Given the description of an element on the screen output the (x, y) to click on. 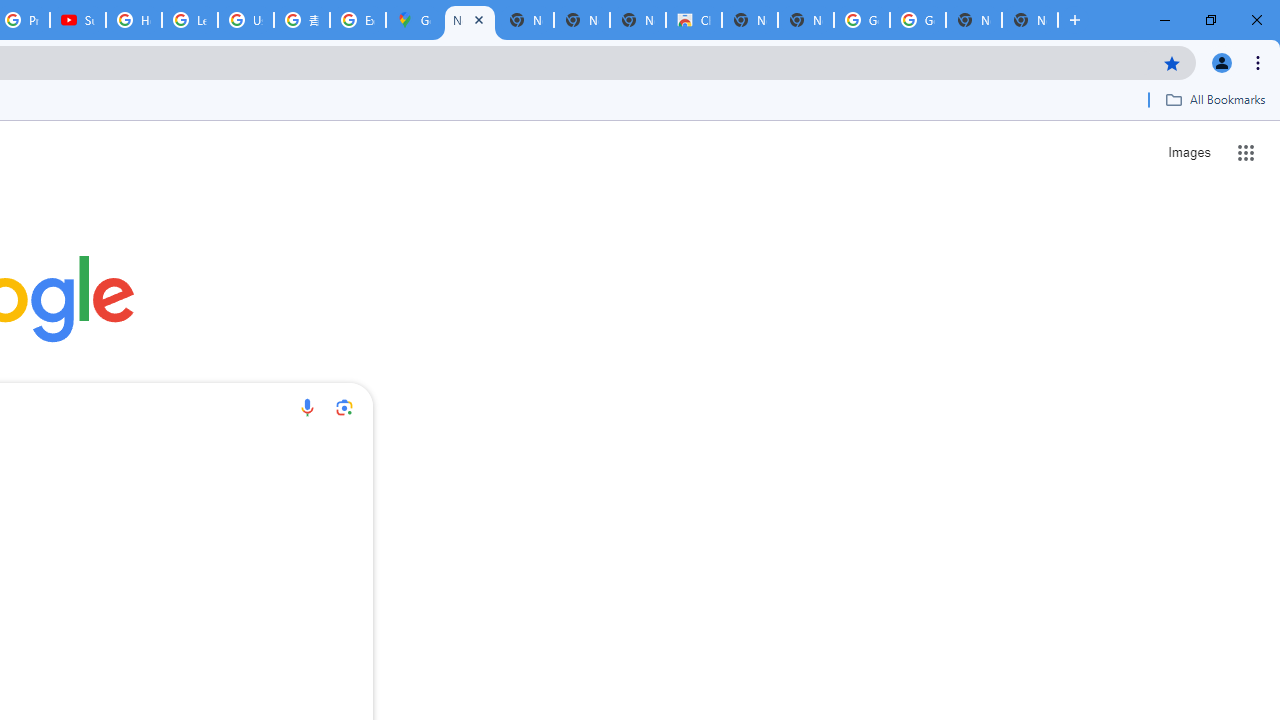
All Bookmarks (1215, 99)
How Chrome protects your passwords - Google Chrome Help (134, 20)
Google Images (861, 20)
